Given the description of an element on the screen output the (x, y) to click on. 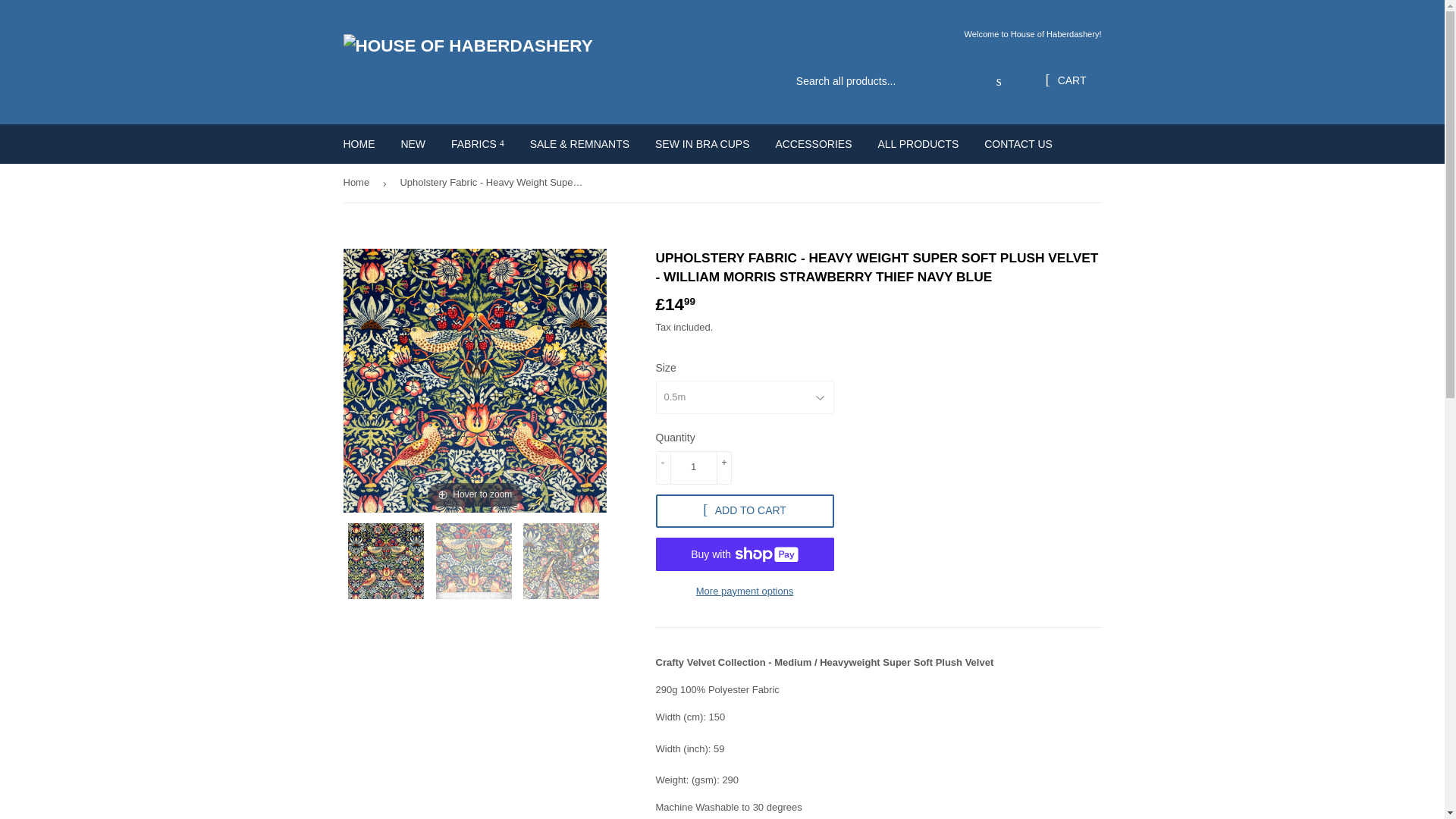
Search (998, 81)
ALL PRODUCTS (917, 143)
CONTACT US (1018, 143)
NEW (412, 143)
CART (1064, 80)
1 (692, 467)
FABRICS (477, 143)
ACCESSORIES (812, 143)
SEW IN BRA CUPS (701, 143)
HOME (359, 143)
